Given the description of an element on the screen output the (x, y) to click on. 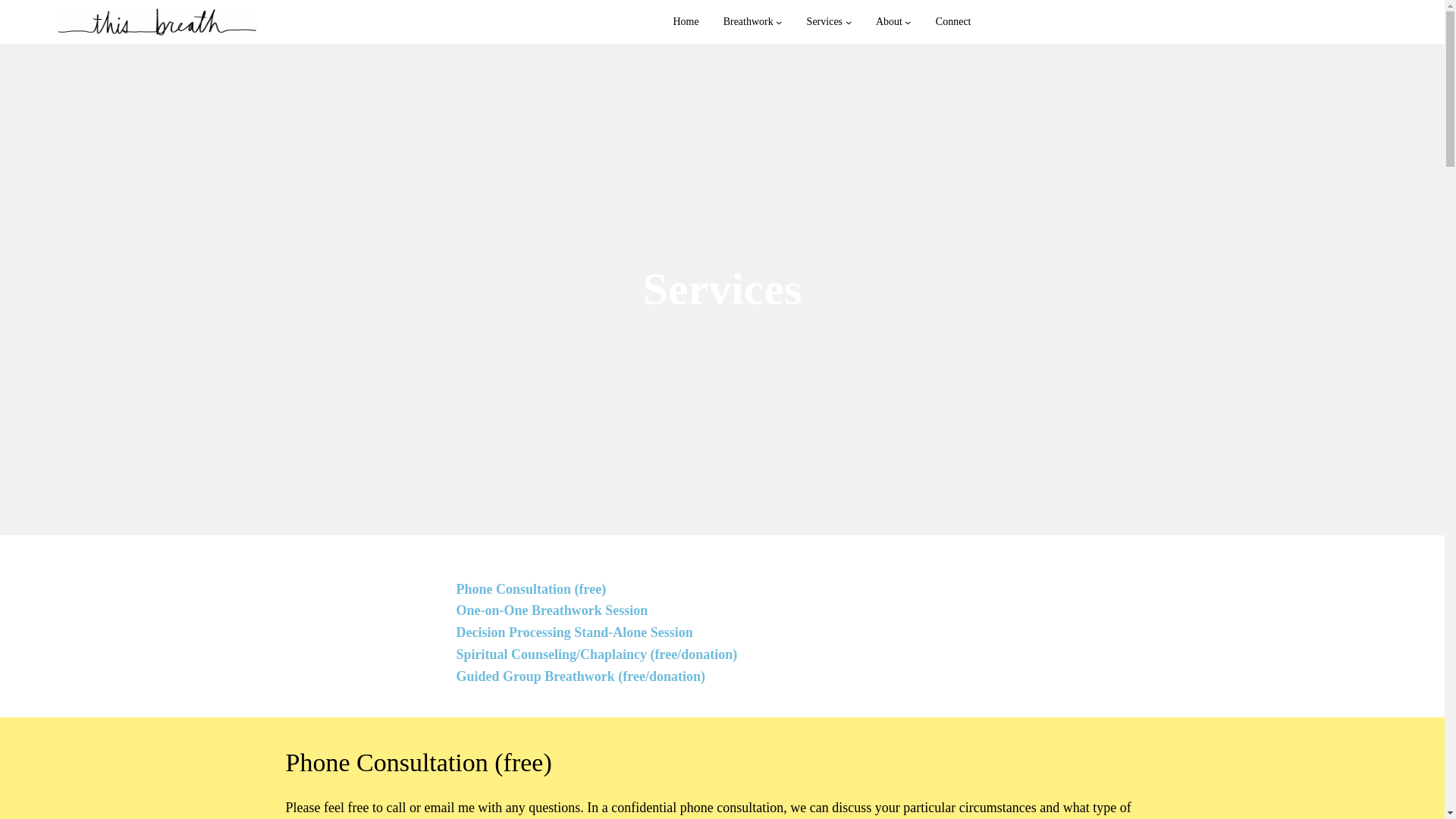
Decision Processing Stand-Alone Session (575, 631)
Home (685, 21)
About (889, 21)
Connect (953, 21)
Services (824, 21)
Breathwork (748, 21)
One-on-One Breathwork Session (552, 610)
